Given the description of an element on the screen output the (x, y) to click on. 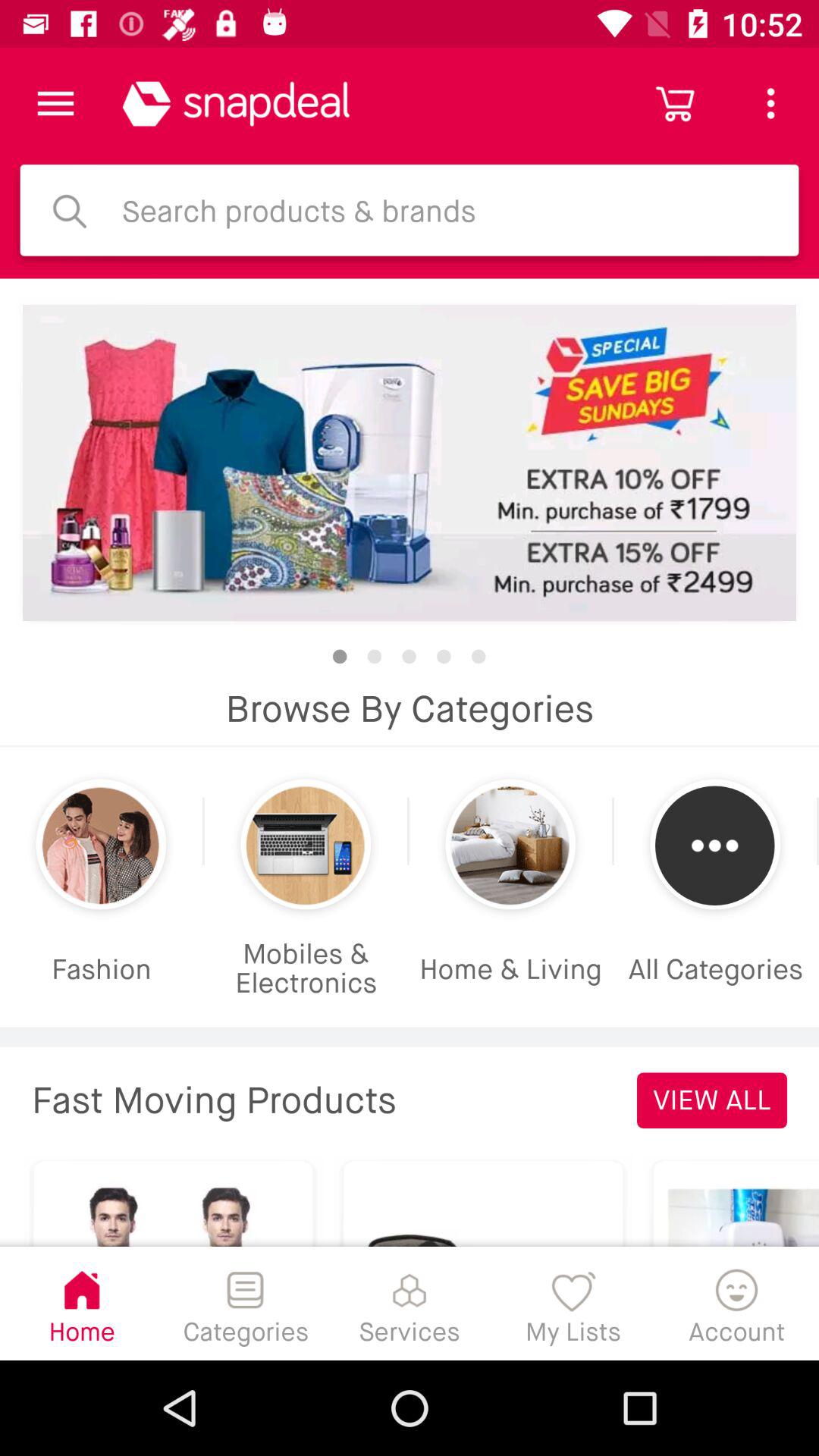
select the item next to the account (573, 1303)
